Given the description of an element on the screen output the (x, y) to click on. 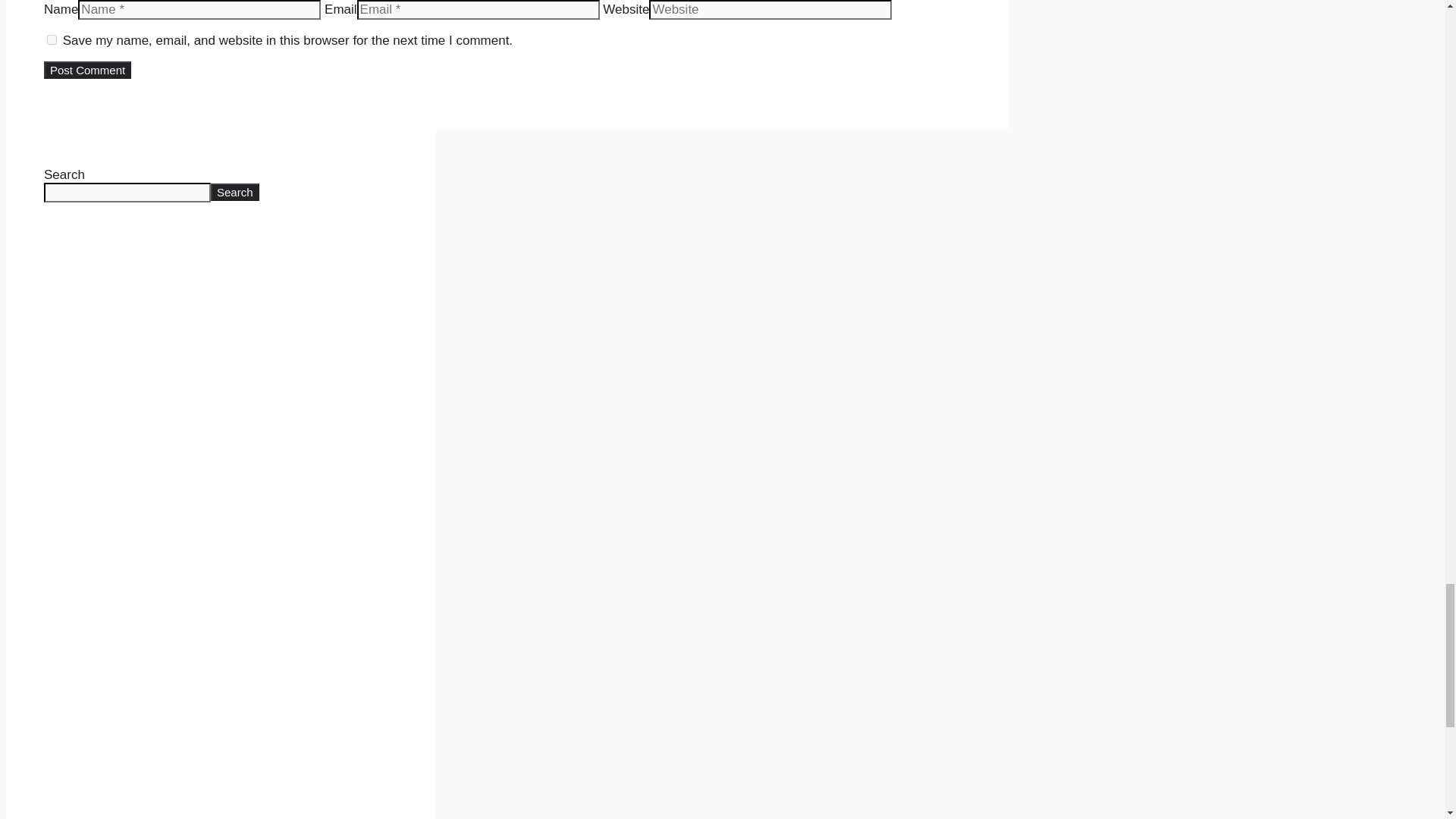
Search (235, 191)
yes (51, 40)
Post Comment (87, 69)
Post Comment (87, 69)
